Given the description of an element on the screen output the (x, y) to click on. 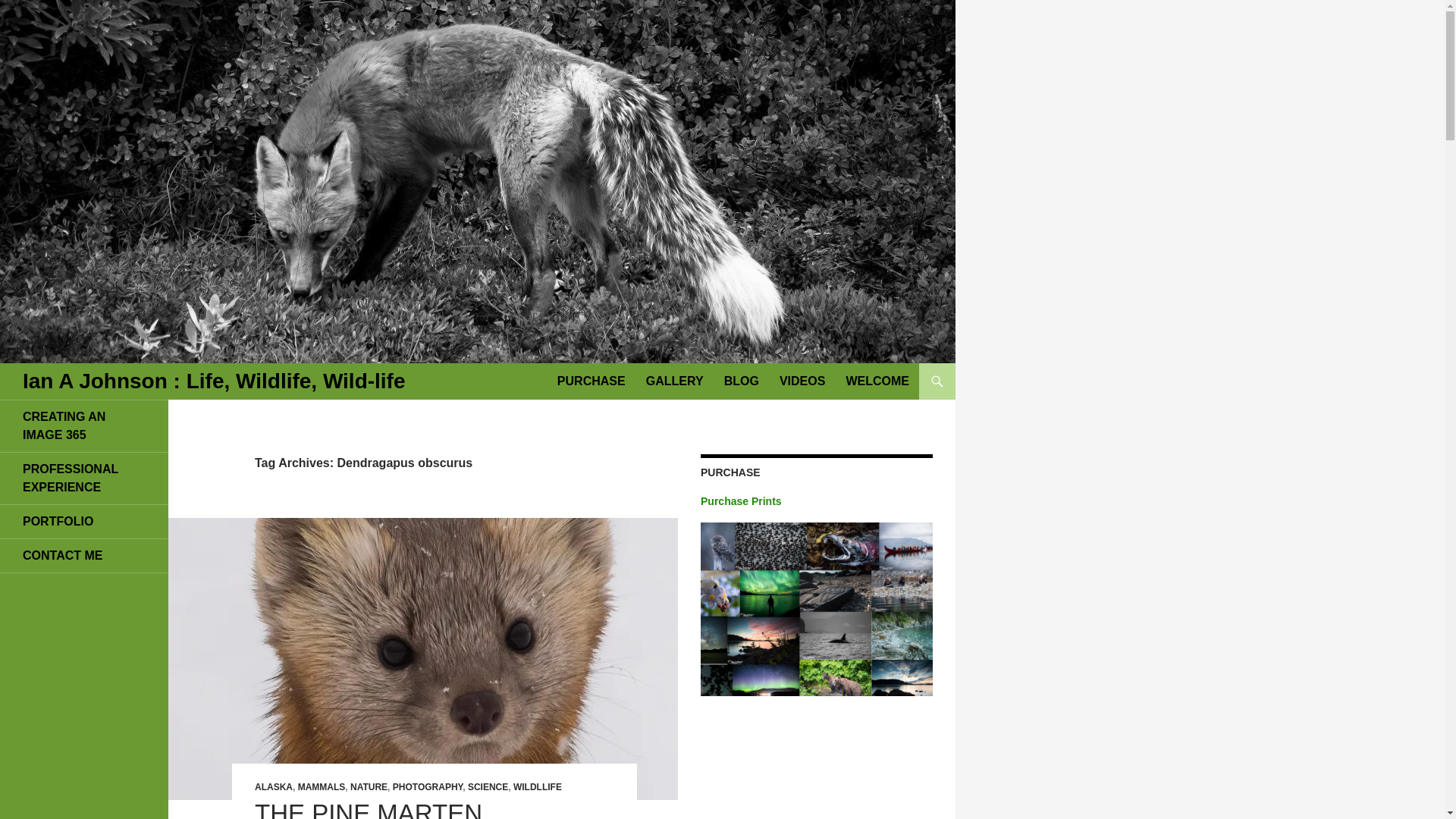
MAMMALS (322, 787)
THE PINE MARTEN TRANSPLANTS OF CHICHAGOF ISLAND (378, 809)
NATURE (368, 787)
WILDLLIFE (537, 787)
PURCHASE (591, 381)
SCIENCE (487, 787)
ALASKA (273, 787)
VIDEOS (802, 381)
PHOTOGRAPHY (428, 787)
